Given the description of an element on the screen output the (x, y) to click on. 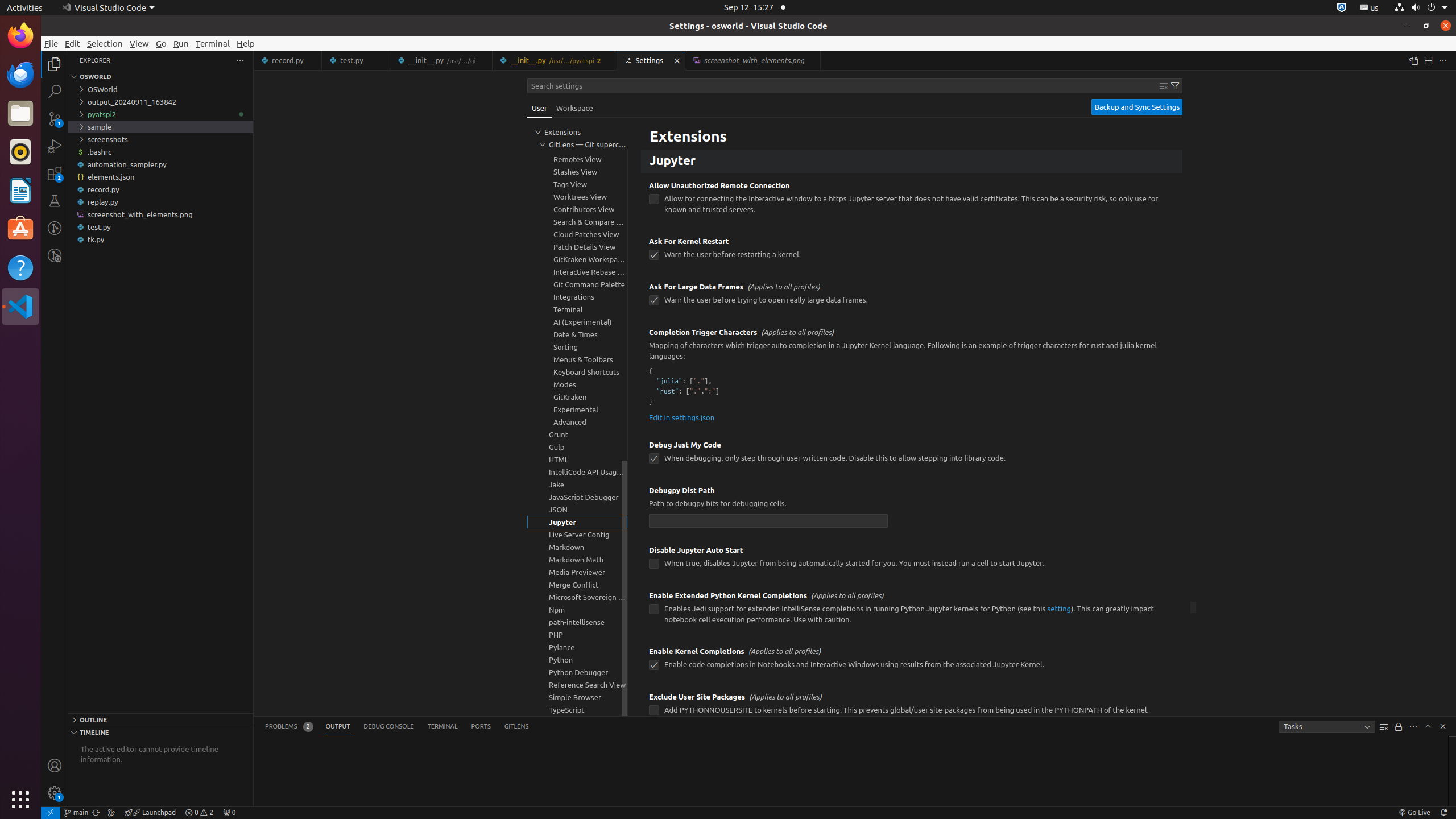
 Ask For Large Data Frames. Setting value retained when switching profiles. Warn the user before trying to open really large data frames.  Element type: tree-item (911, 297)
jupyter.enableKernelCompletions Element type: check-box (653, 664)
Filter Settings Element type: push-button (1174, 85)
